Given the description of an element on the screen output the (x, y) to click on. 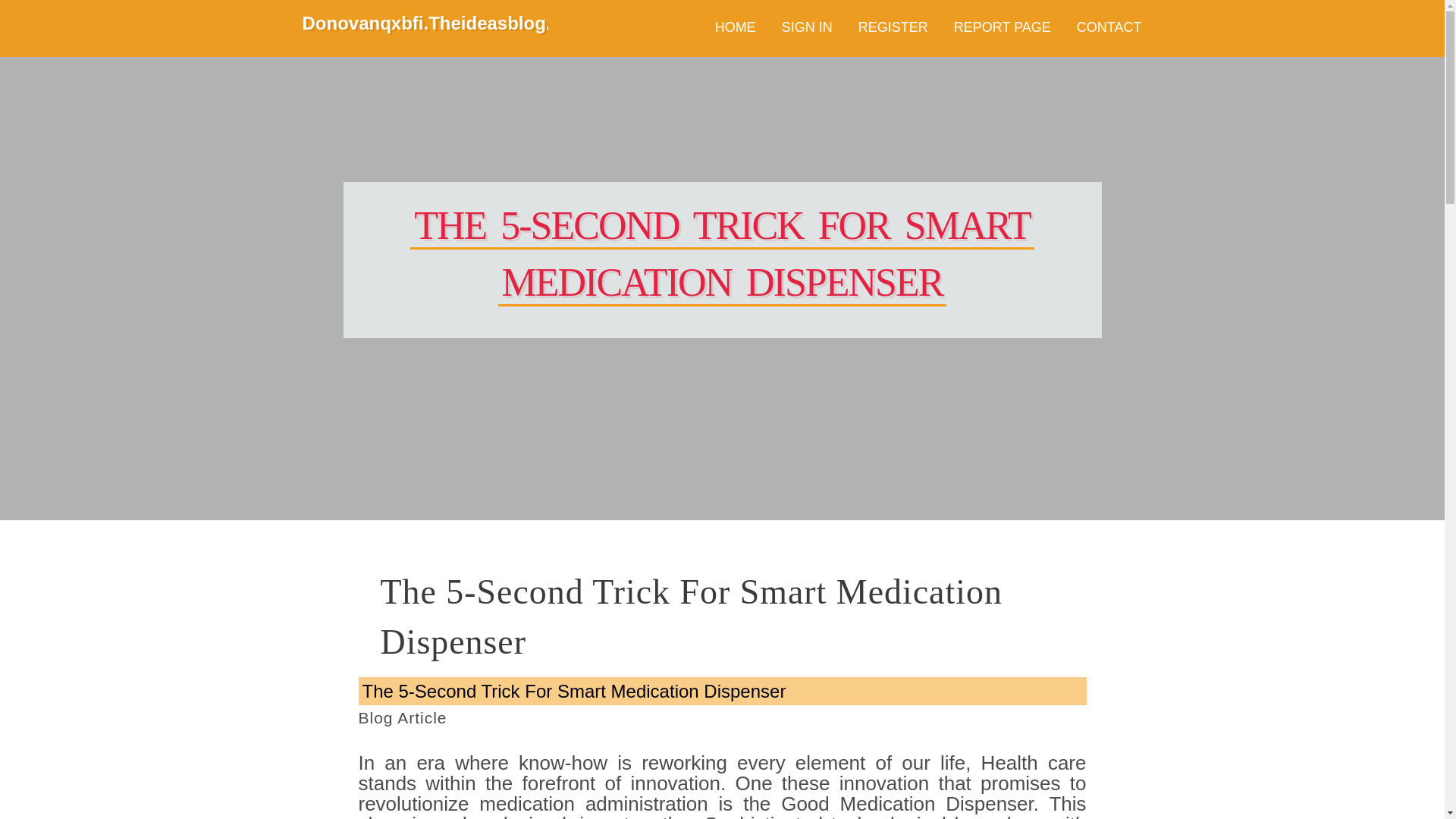
SIGN IN (806, 28)
REGISTER (892, 28)
REPORT PAGE (1002, 28)
CONTACT (1109, 28)
HOME (734, 28)
Donovanqxbfi.Theideasblog.Com (446, 27)
